Given the description of an element on the screen output the (x, y) to click on. 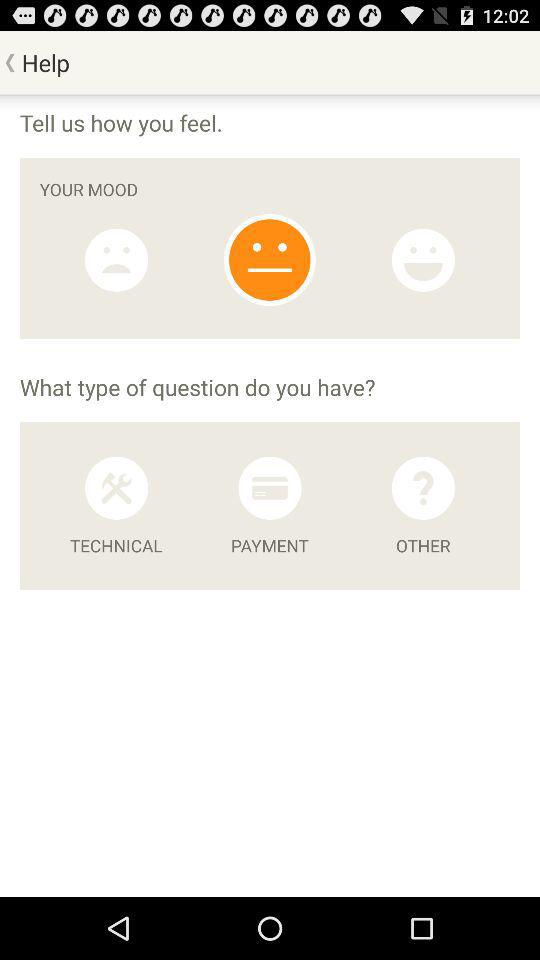
unhappy mood (116, 260)
